Given the description of an element on the screen output the (x, y) to click on. 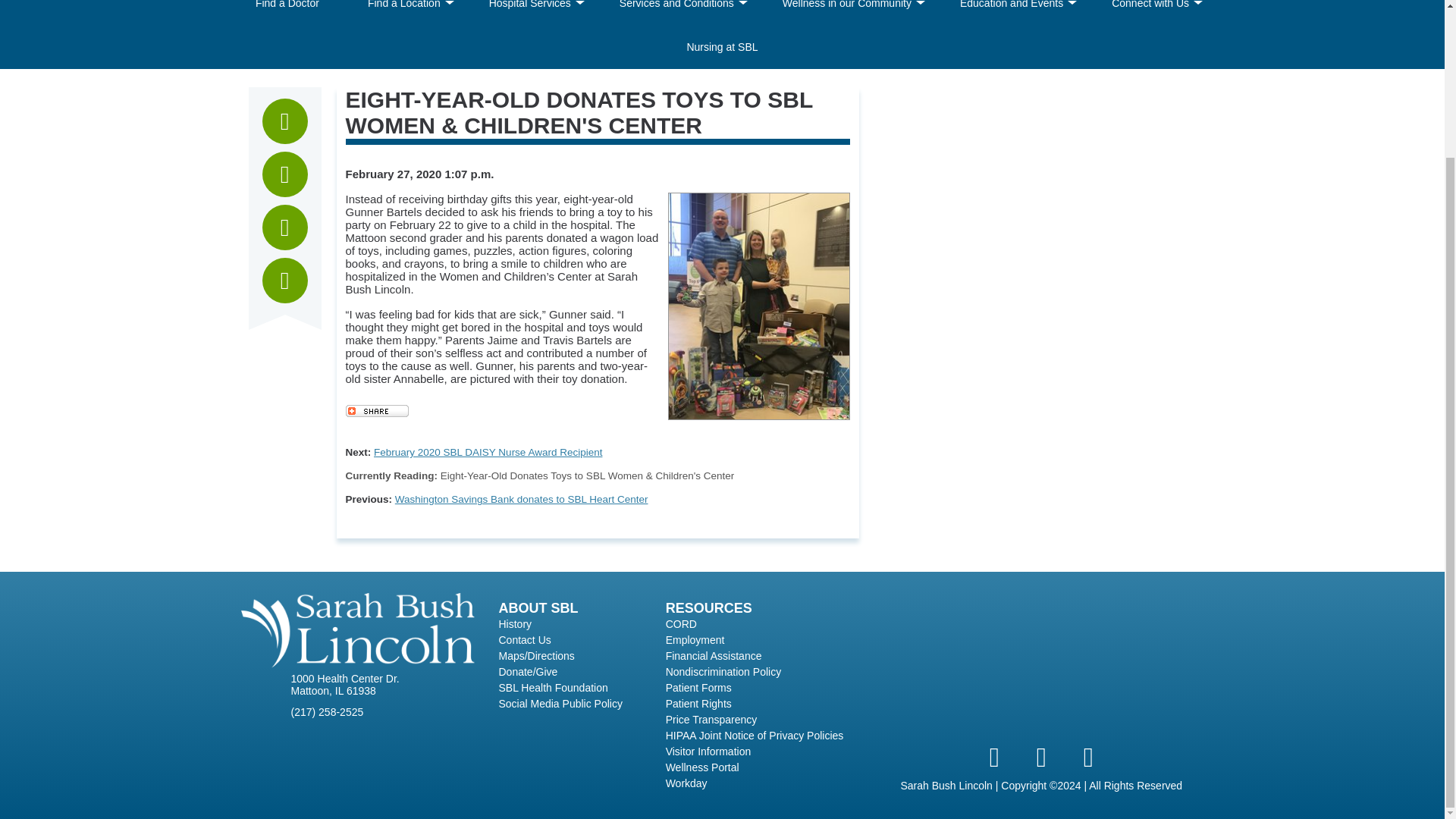
Hospital Services (529, 12)
Find a Location (403, 12)
Find a Doctor (287, 12)
